Given the description of an element on the screen output the (x, y) to click on. 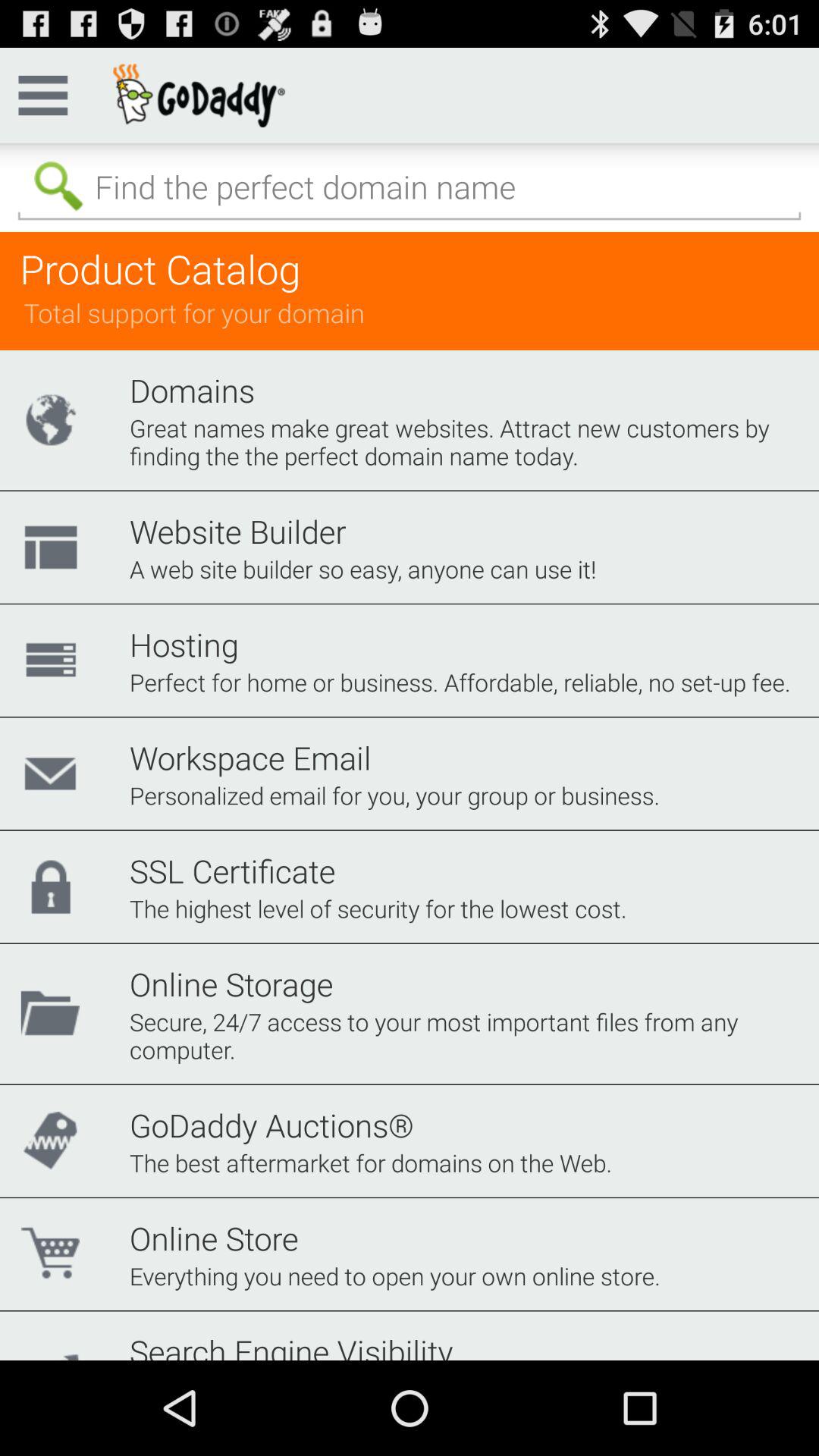
query search (409, 187)
